Given the description of an element on the screen output the (x, y) to click on. 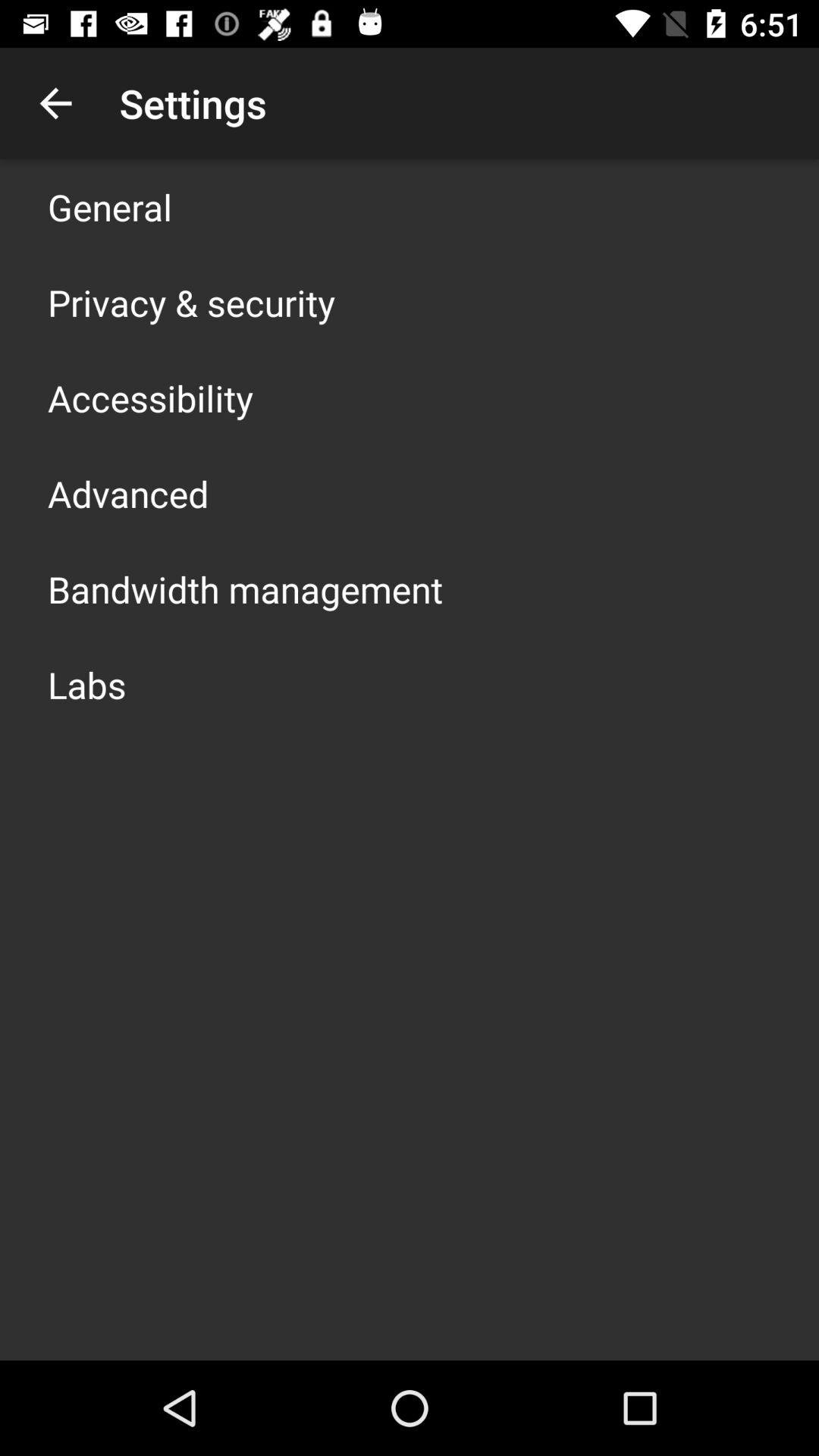
click app above the bandwidth management app (127, 493)
